Given the description of an element on the screen output the (x, y) to click on. 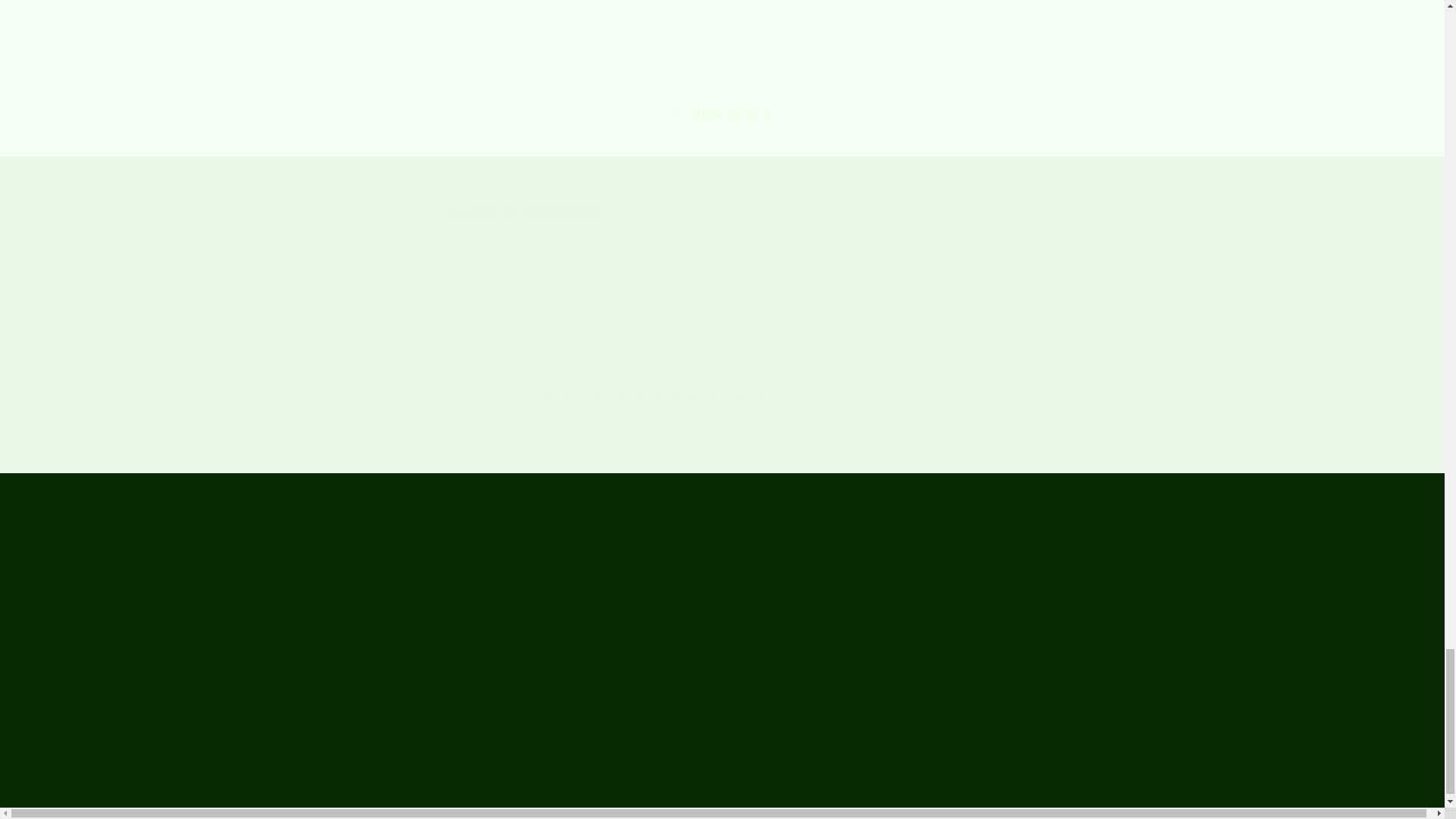
Post comment (510, 442)
reviews (499, 594)
Post comment (510, 442)
Back to blog (722, 114)
organic multivitamin- gruns (694, 41)
Back to blog (722, 114)
